Given the description of an element on the screen output the (x, y) to click on. 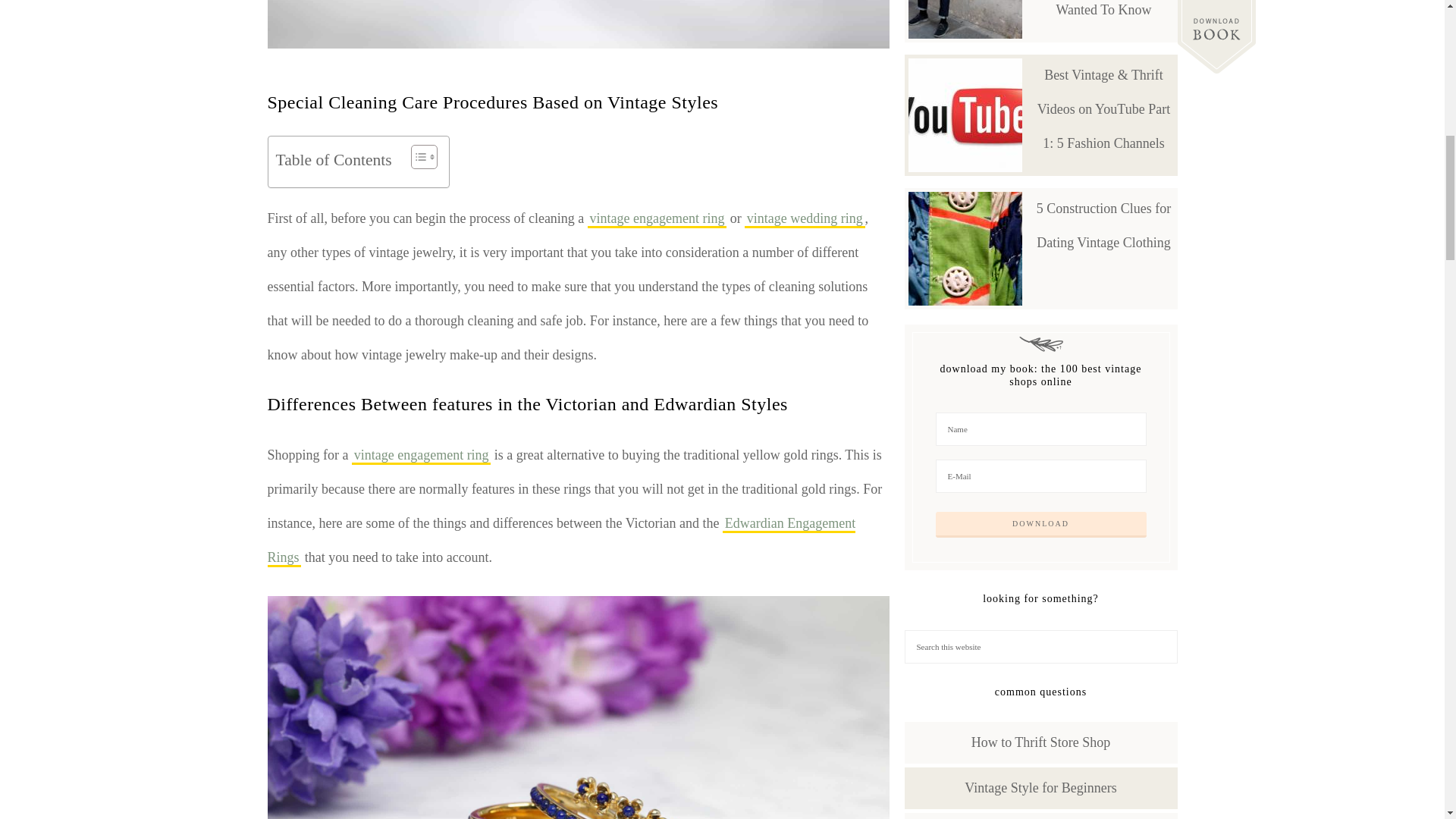
Edwardian Engagement Rings (561, 541)
How To Care For Vintage Jewelry Especially Engagement Rings (577, 24)
vintage wedding ring (804, 219)
vintage engagement ring (421, 456)
vintage engagement ring (657, 219)
Download (1041, 524)
